Given the description of an element on the screen output the (x, y) to click on. 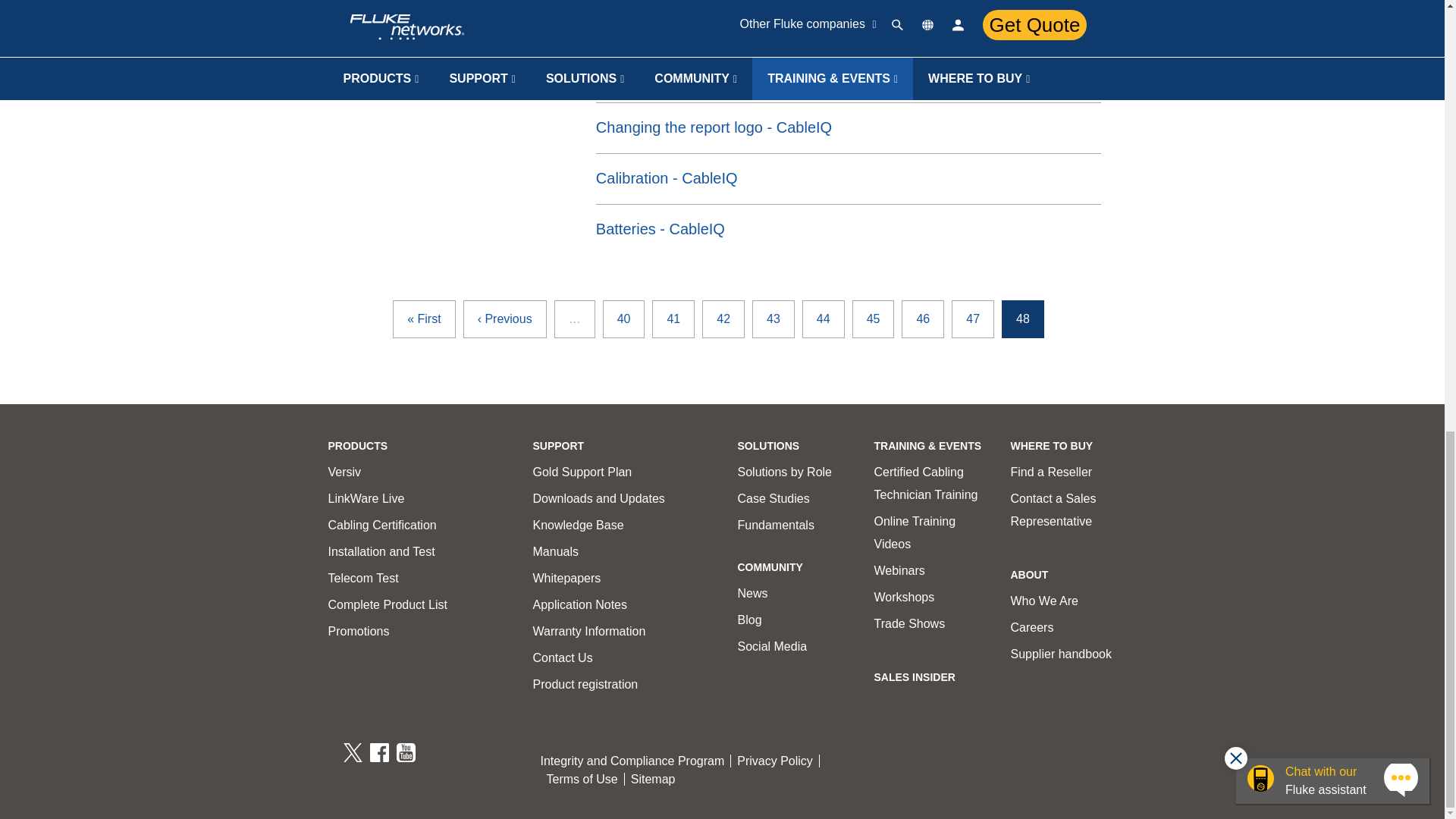
Go to page 43 (773, 319)
Go to page 45 (873, 319)
Go to previous page (505, 319)
Go to page 44 (823, 319)
Go to page 46 (922, 319)
Go to page 40 (623, 319)
YouTube (406, 751)
Go to page 47 (973, 319)
Go to page 41 (673, 319)
Twitter (352, 751)
Go to first page (423, 319)
Facebook (379, 751)
Go to page 42 (722, 319)
